Given the description of an element on the screen output the (x, y) to click on. 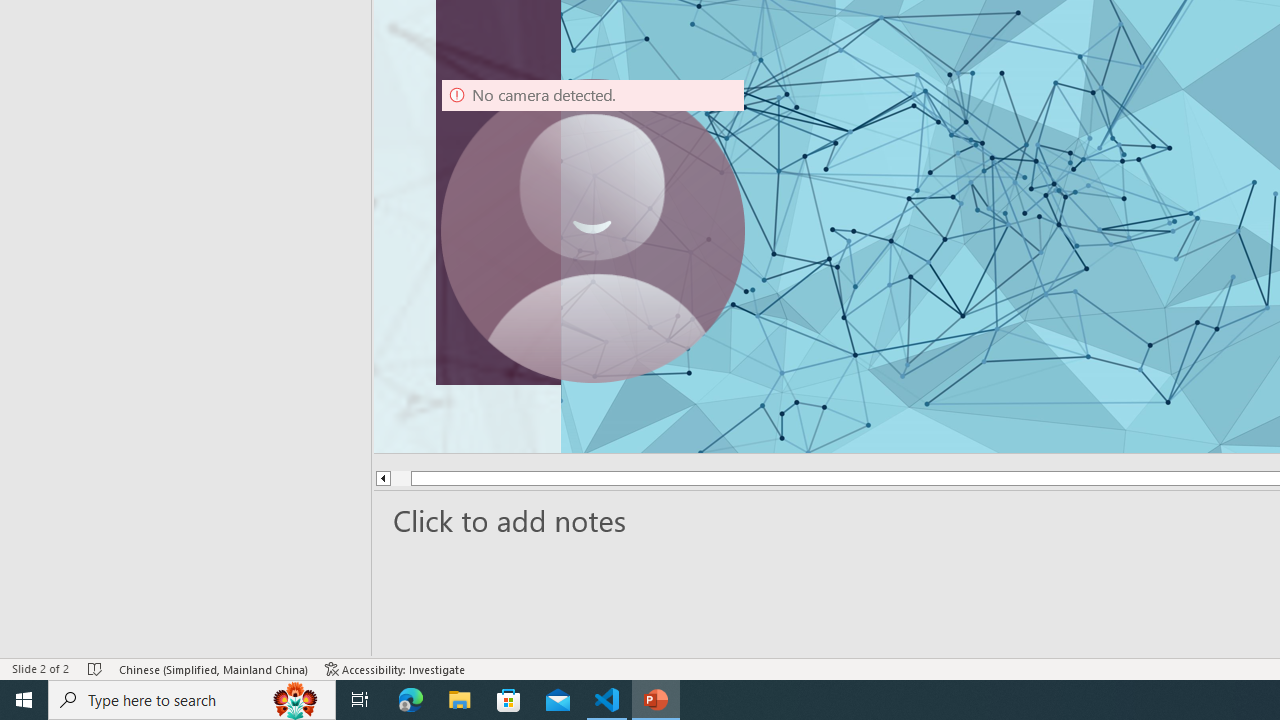
Camera 9, No camera detected. (593, 230)
